Given the description of an element on the screen output the (x, y) to click on. 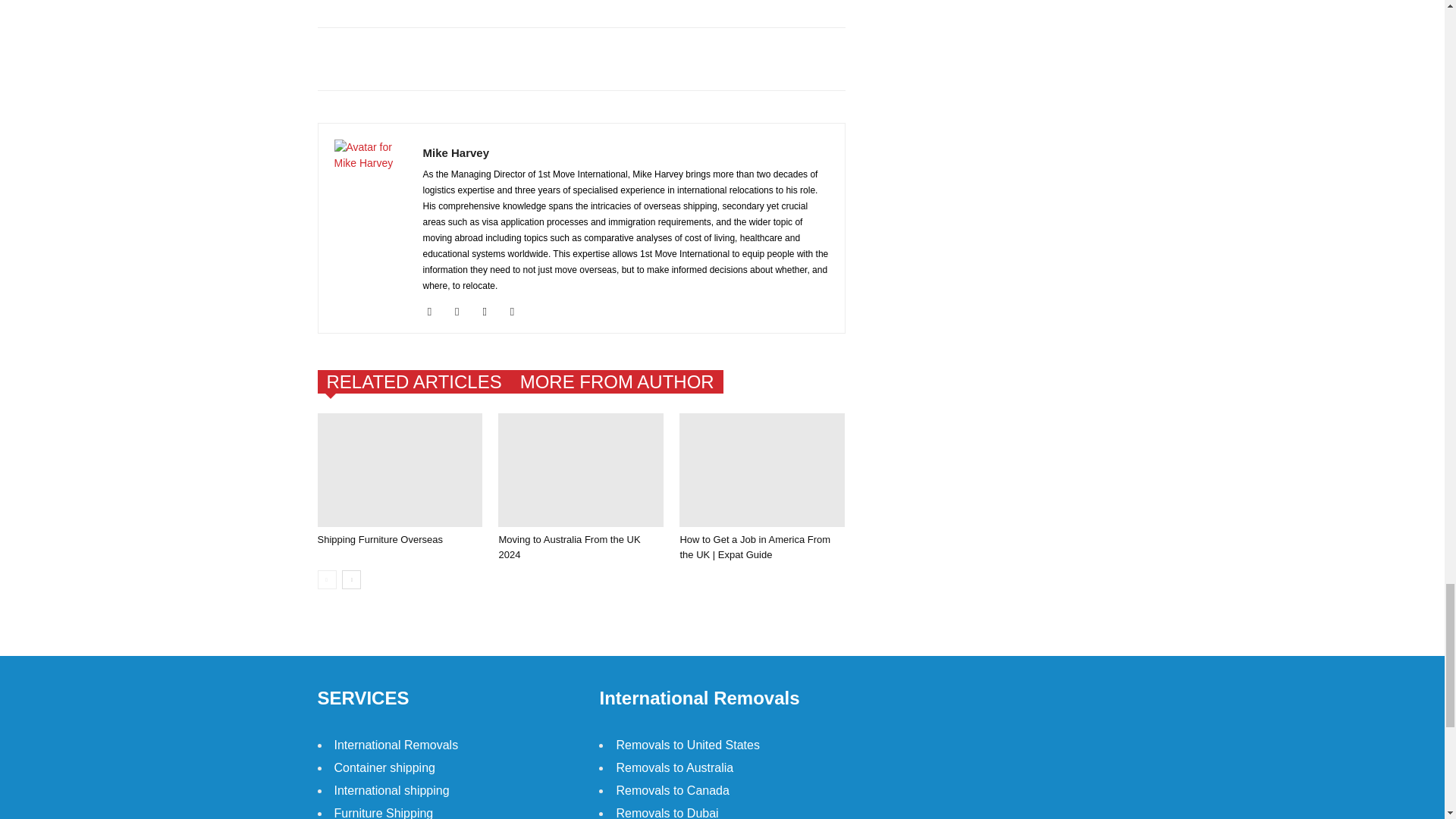
Linkedin (462, 311)
Gravatar for Mike Harvey (369, 175)
Youtube (518, 311)
Twitter (489, 311)
Shipping Furniture Overseas (399, 470)
Facebook (435, 311)
